Given the description of an element on the screen output the (x, y) to click on. 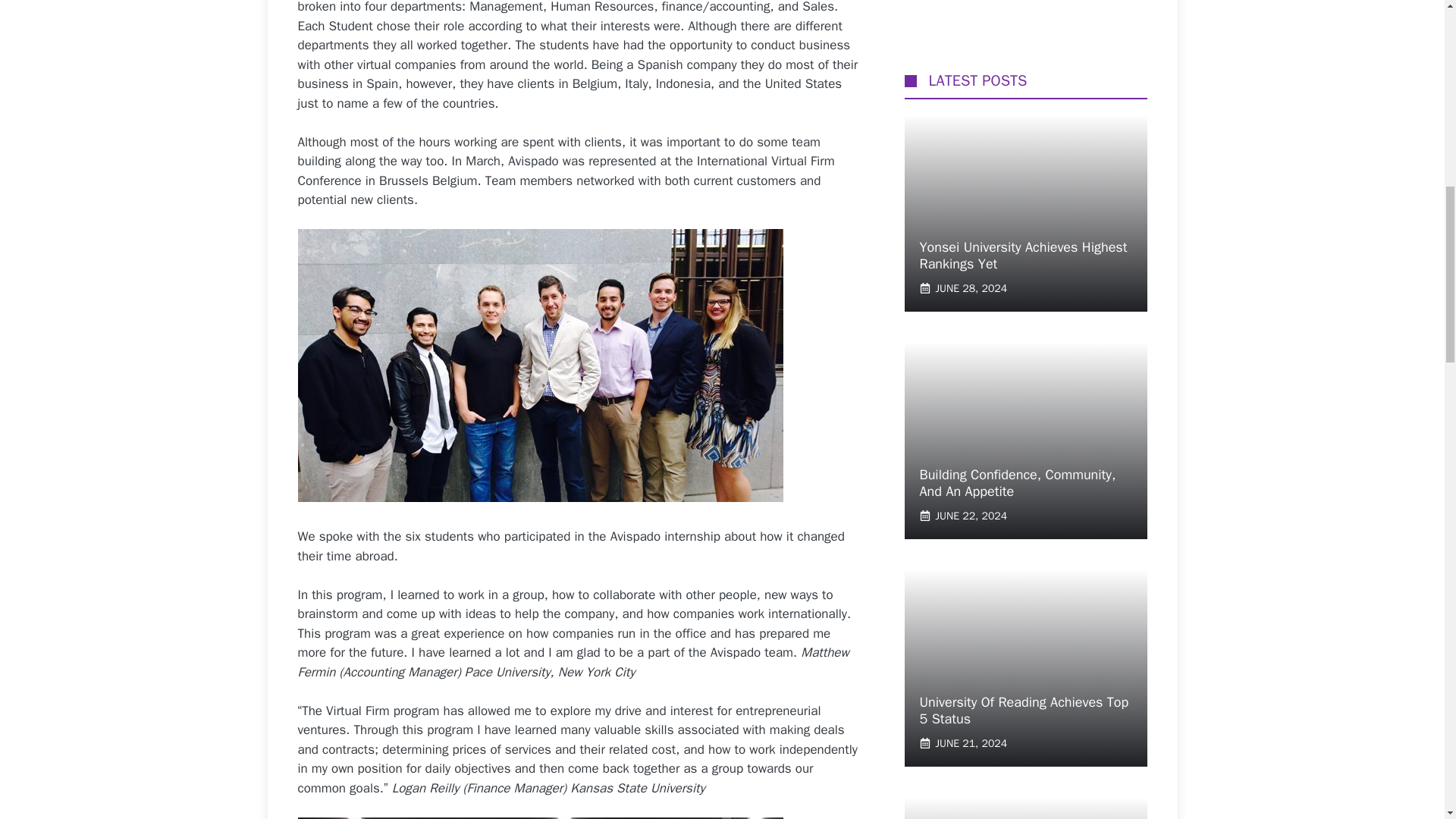
Scroll back to top (1406, 720)
